Given the description of an element on the screen output the (x, y) to click on. 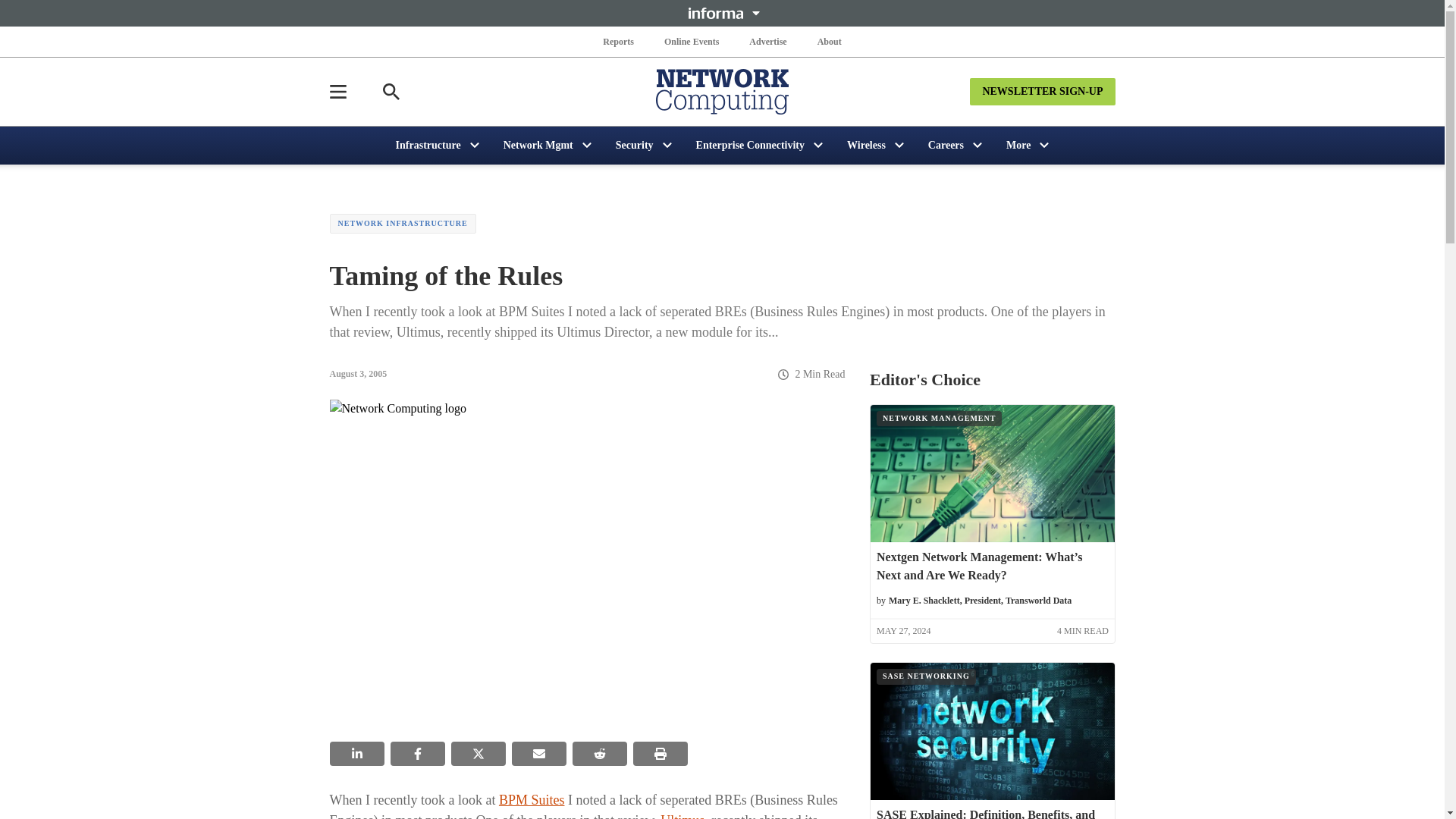
Network Computing Logo (722, 91)
Online Events (691, 41)
NEWSLETTER SIGN-UP (1042, 90)
Advertise (767, 41)
Reports (618, 41)
About (828, 41)
